Given the description of an element on the screen output the (x, y) to click on. 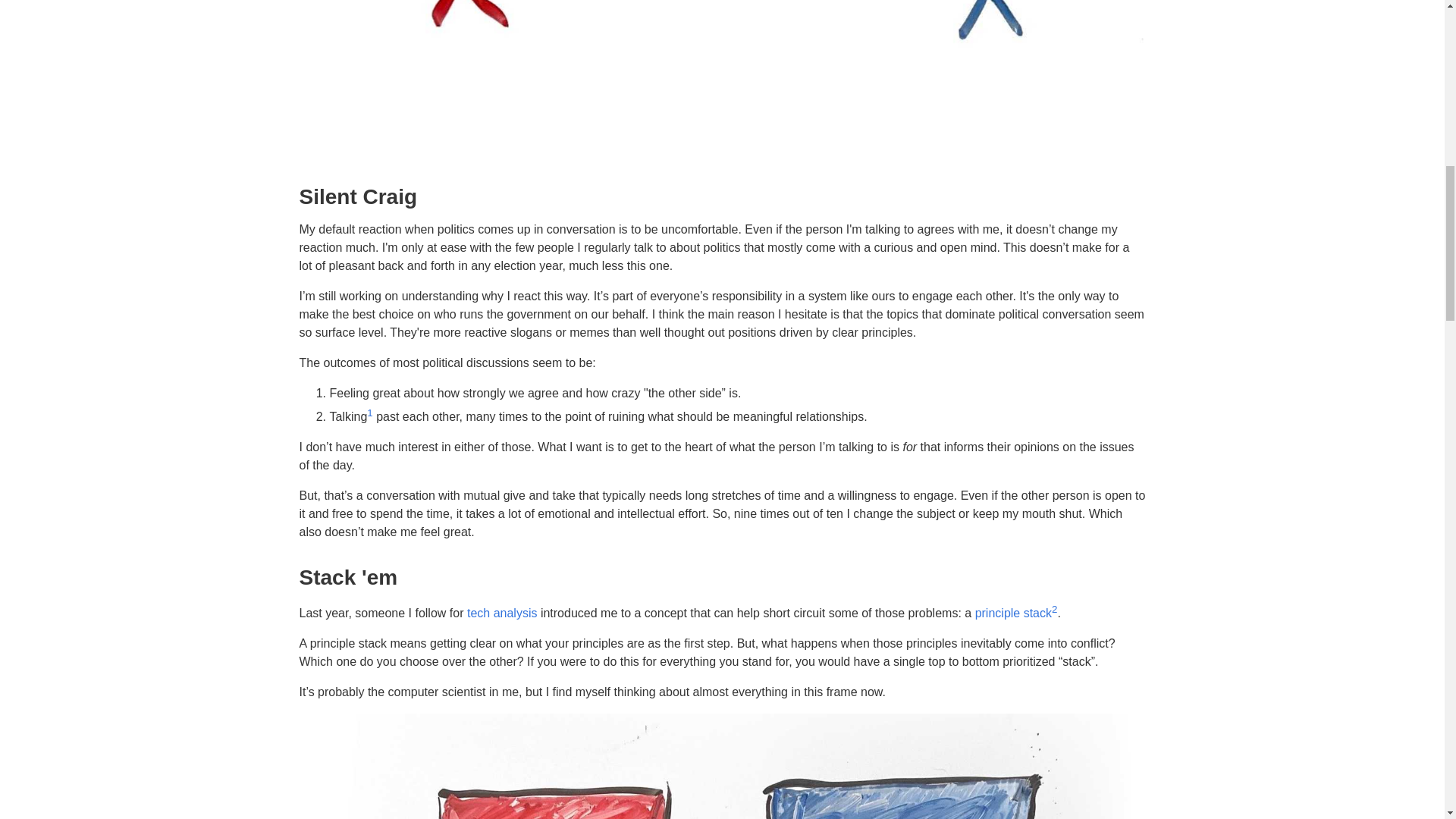
Principle stacks meet (721, 766)
tech analysis (502, 612)
principle stack (1013, 612)
